Given the description of an element on the screen output the (x, y) to click on. 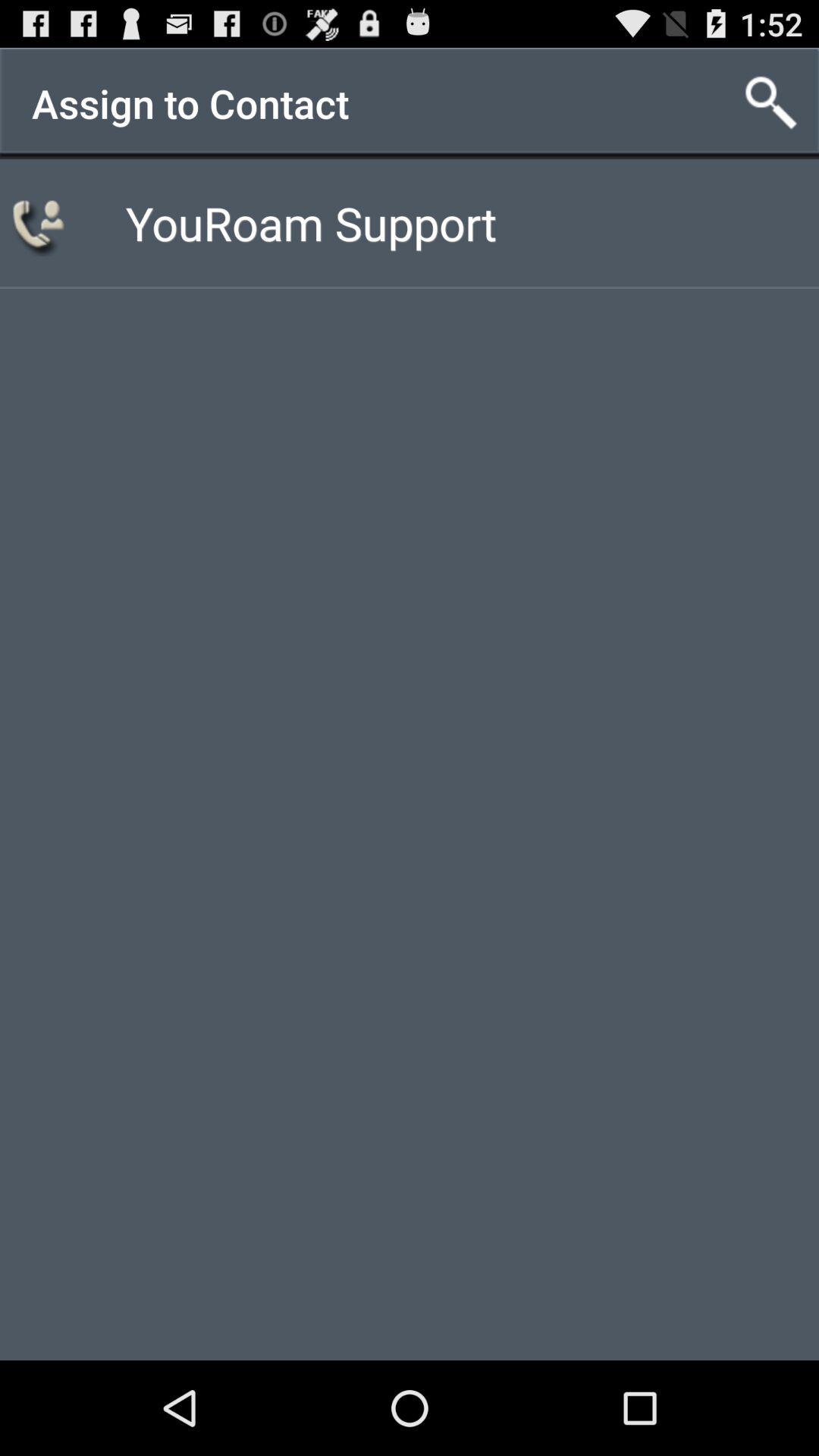
press icon at the top right corner (771, 103)
